Given the description of an element on the screen output the (x, y) to click on. 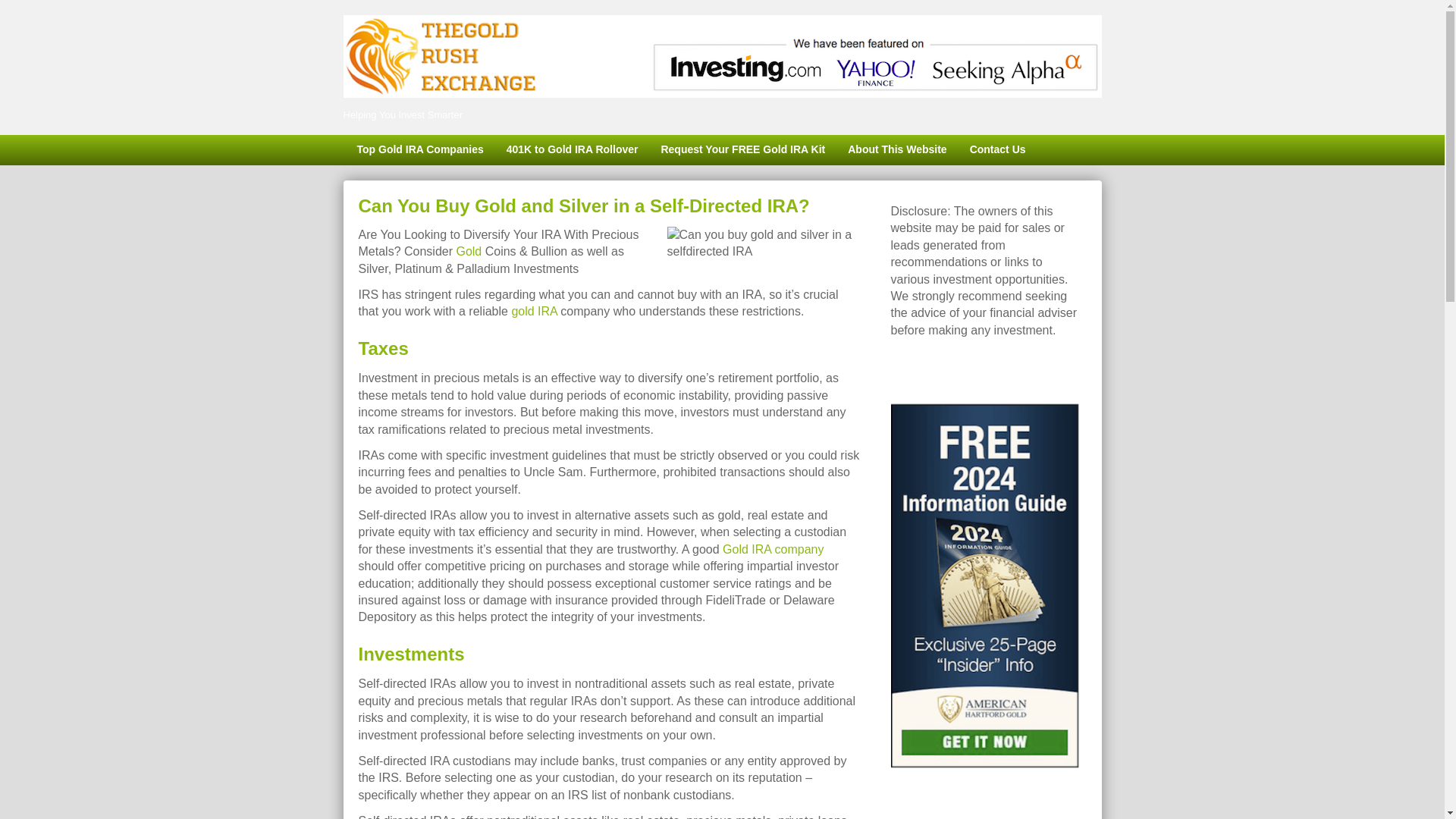
Contact Us (997, 150)
Top Gold IRA Companies (418, 150)
gold IRA (533, 310)
401K to Gold IRA Rollover (572, 150)
About This Website (896, 150)
Gold IRA company (773, 549)
Request Your FREE Gold IRA Kit (742, 150)
Gold (468, 250)
